Given the description of an element on the screen output the (x, y) to click on. 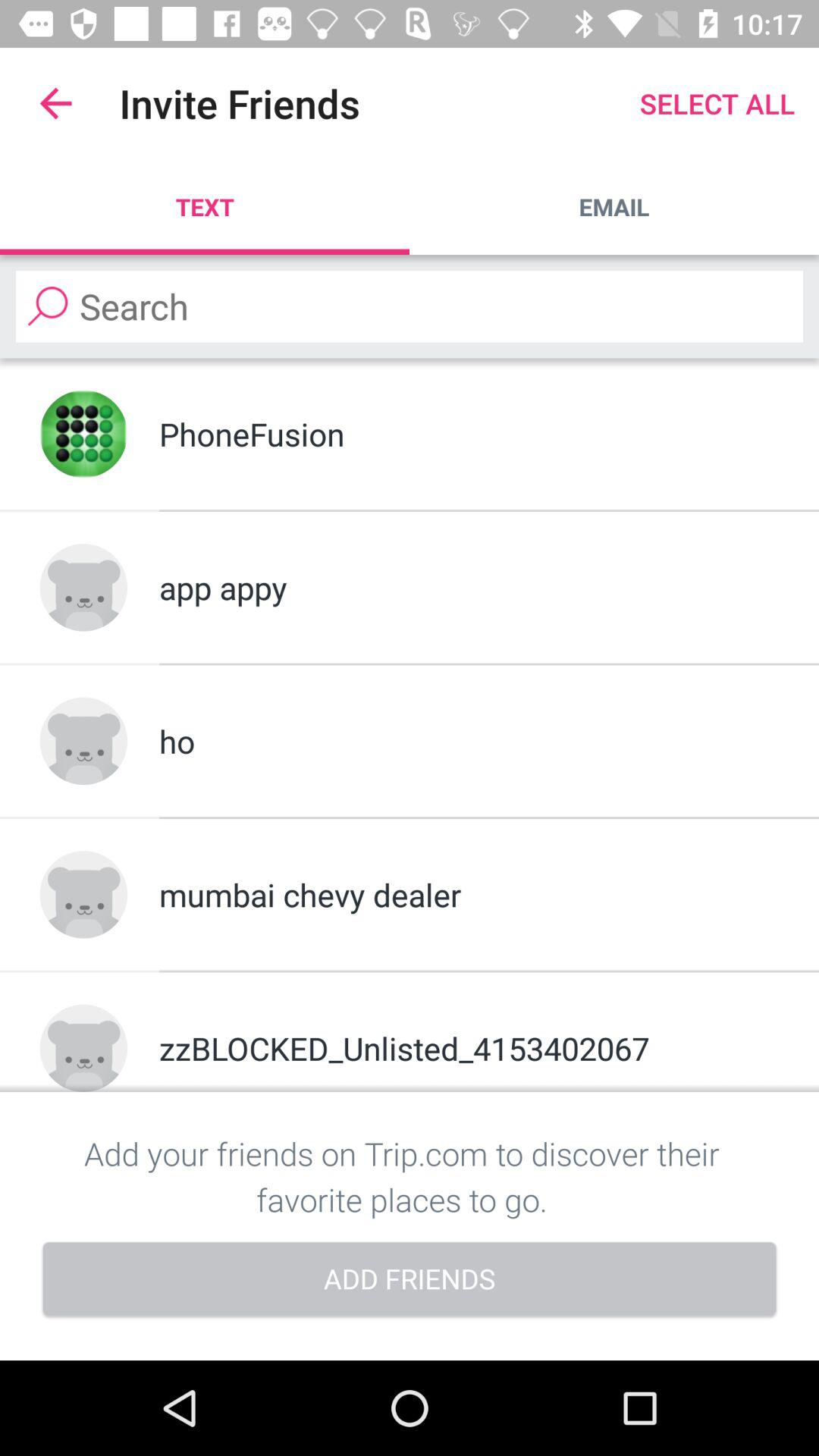
open item above text app (55, 103)
